Given the description of an element on the screen output the (x, y) to click on. 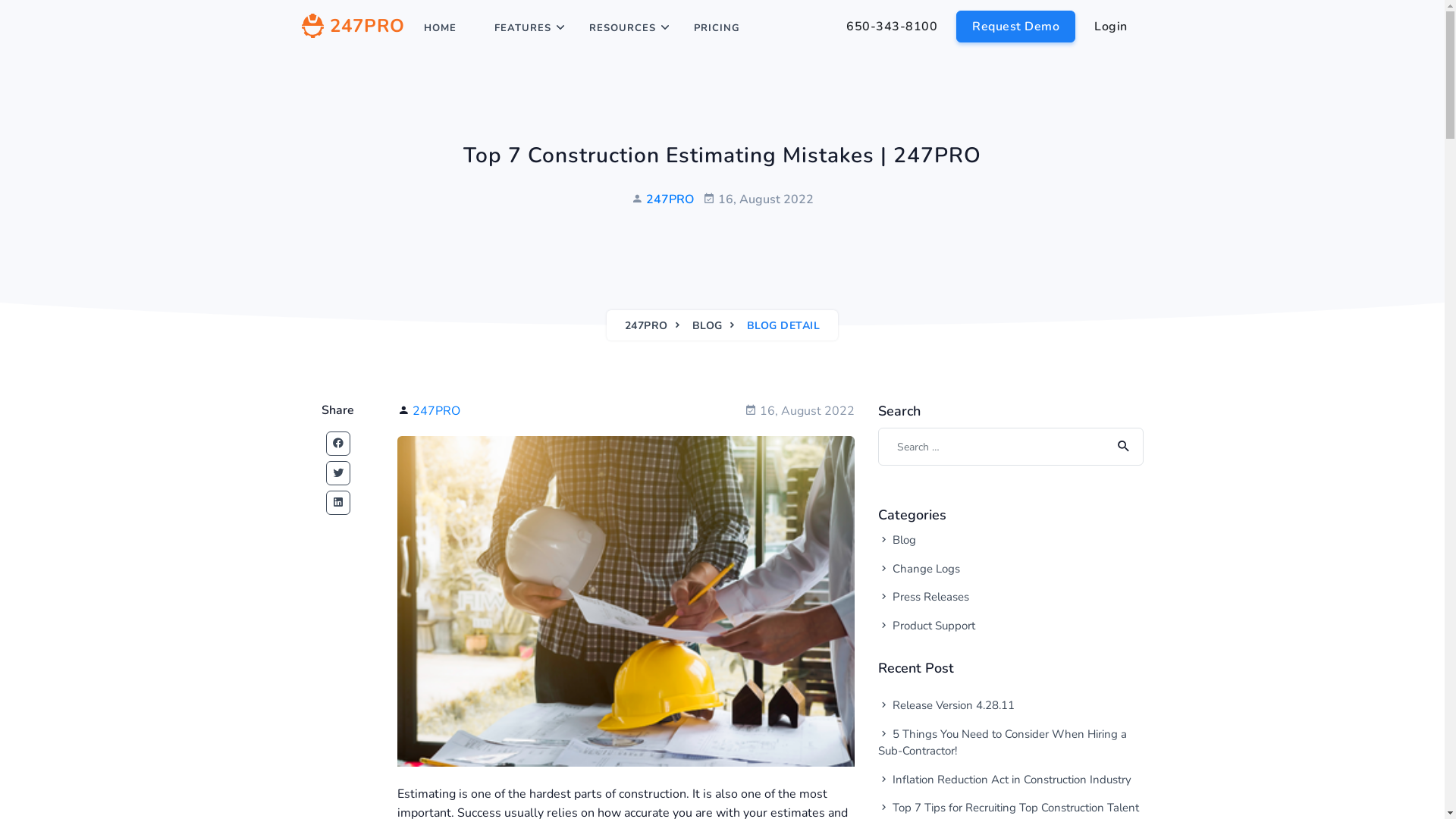
247PRO Element type: text (646, 325)
Press Releases Element type: text (977, 596)
BLOG Element type: text (707, 325)
5 Things You Need to Consider When Hiring a Sub-Contractor! Element type: text (1010, 741)
Request Demo Element type: text (1015, 26)
Inflation Reduction Act in Construction Industry Element type: text (1010, 778)
Top 7 Construction Estimating Mistakes | 247PRO Element type: hover (625, 601)
Blog Element type: text (977, 540)
Change Logs Element type: text (977, 568)
FEATURES Element type: text (522, 28)
Click to share on Twitter Element type: hover (338, 473)
Search Element type: text (1120, 446)
RESOURCES Element type: text (622, 28)
Click to share on LinkedIn Element type: hover (338, 502)
Product Support Element type: text (977, 625)
Release Version 4.28.11 Element type: text (1010, 705)
Click to share on Facebook Element type: hover (338, 443)
650-343-8100 Element type: text (891, 26)
Login Element type: text (1110, 26)
HOME Element type: text (439, 28)
247PRO Element type: text (669, 199)
PRICING Element type: text (716, 28)
247PRO Element type: text (436, 410)
247PRO Element type: text (352, 28)
